Given the description of an element on the screen output the (x, y) to click on. 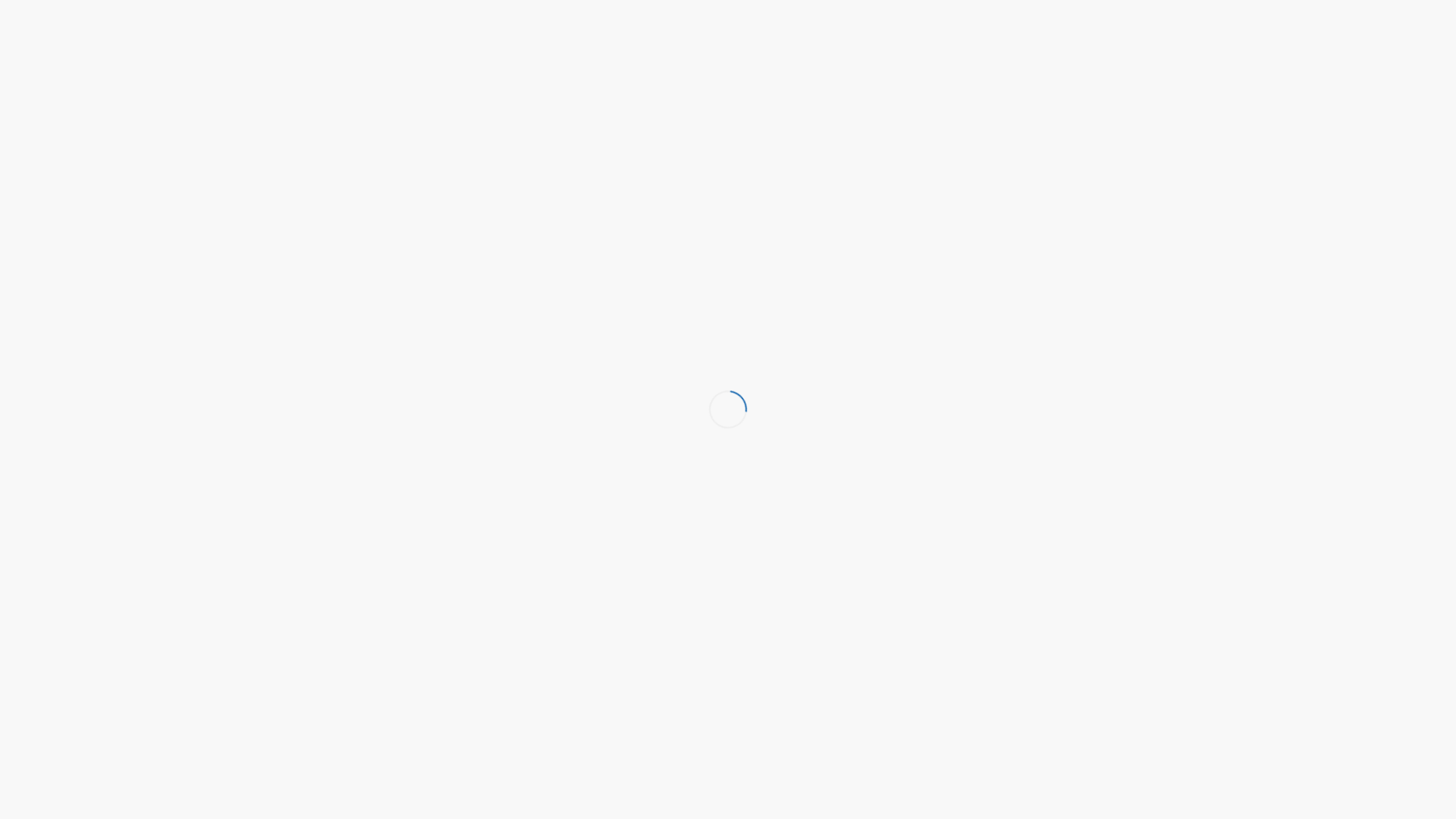
GDPR Element type: text (944, 68)
Zoeken Element type: text (477, 158)
Privacy verklaring Element type: text (1054, 240)
CONTACTEER ONS Element type: text (1024, 68)
Privacy verklaring Element type: text (1024, 18)
Voorwaarden Element type: text (1131, 240)
Hoofdpagina Element type: text (1055, 29)
Data Protection Consultants Element type: text (435, 239)
Data Protection Consultants Element type: text (519, 95)
Voorwaarden Element type: text (1121, 18)
Zoeken Element type: text (964, 196)
WordPress Element type: text (693, 239)
ThemeGrill Element type: text (831, 239)
Naar de inhoud springen Element type: text (0, 0)
MY DPC Element type: text (1110, 68)
